Given the description of an element on the screen output the (x, y) to click on. 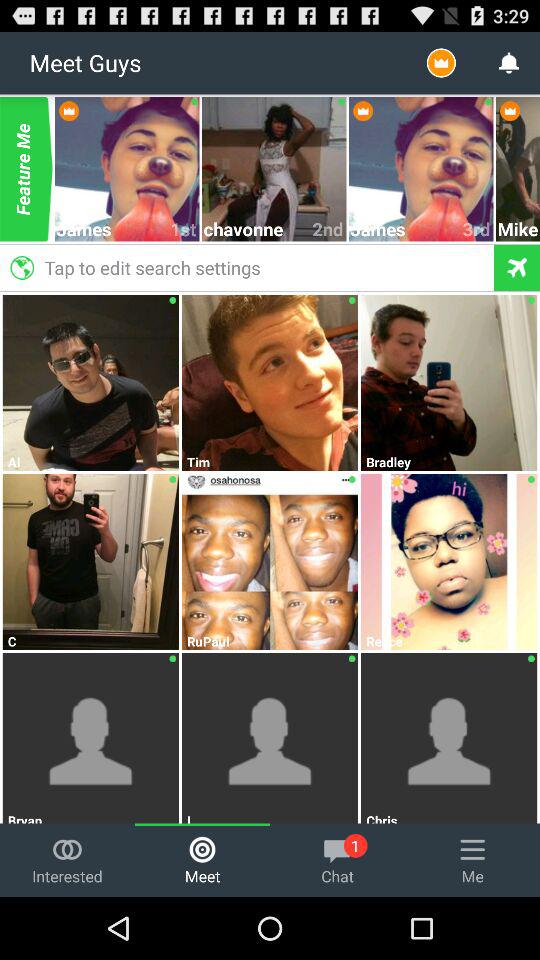
launch item to the right of the james item (184, 228)
